Given the description of an element on the screen output the (x, y) to click on. 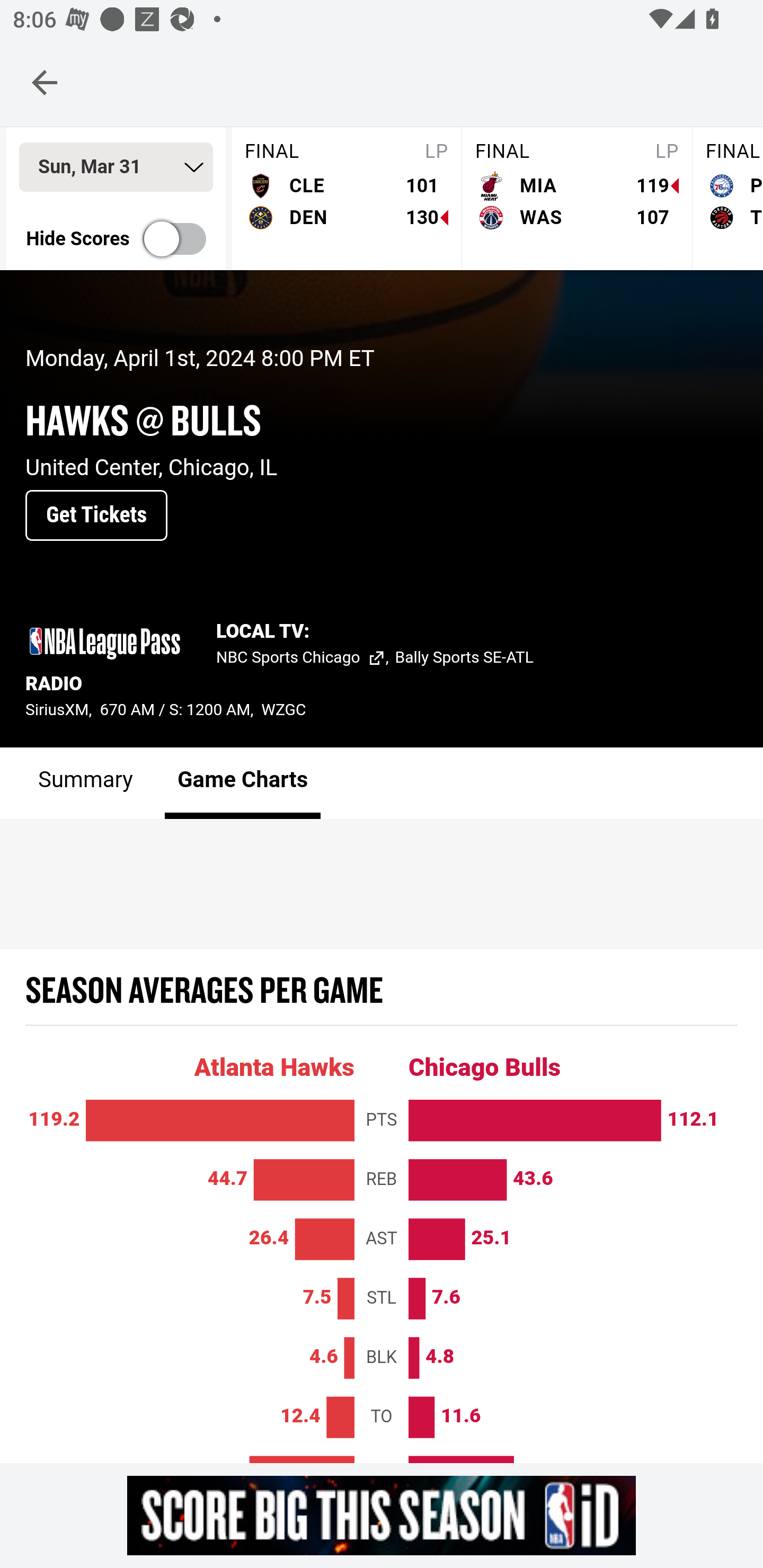
Navigate up (44, 82)
Sun, Mar 31 (115, 168)
Get Tickets (96, 516)
league-pass-stream (104, 644)
NBC Sports Chicago, NBC Sports Chicago , (305, 660)
SiriusXM, SiriusXM , (62, 710)
Summary Summary Summary (85, 783)
Game Charts Game Charts Game Charts (242, 783)
g5nqqygr7owph (381, 1515)
